Given the description of an element on the screen output the (x, y) to click on. 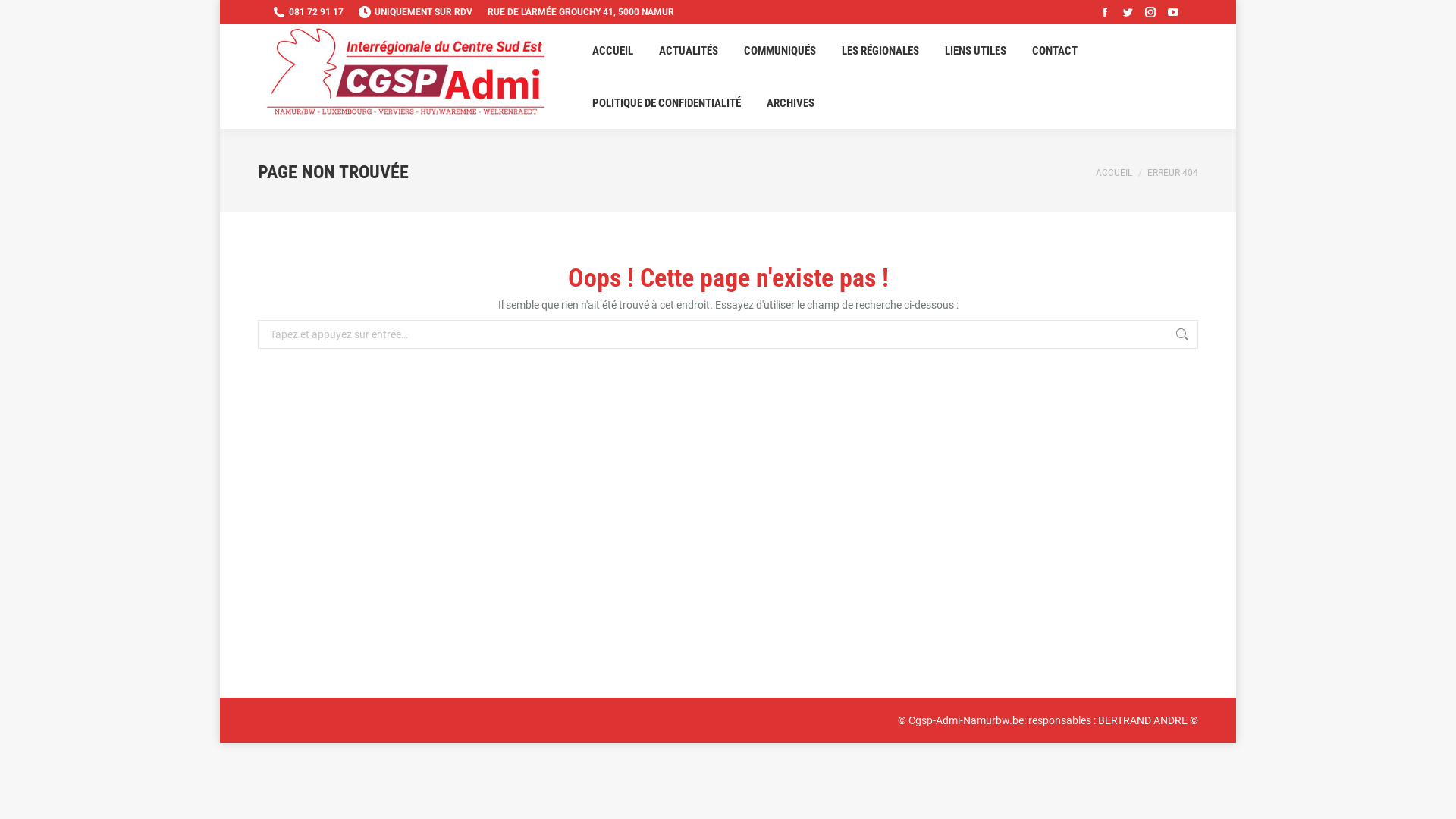
Aller ! Element type: text (1225, 335)
ACCUEIL Element type: text (1113, 172)
ARCHIVES Element type: text (790, 103)
LIENS UTILES Element type: text (975, 50)
ACCUEIL Element type: text (612, 50)
Aller ! Element type: text (26, 15)
CONTACT Element type: text (1054, 50)
